Given the description of an element on the screen output the (x, y) to click on. 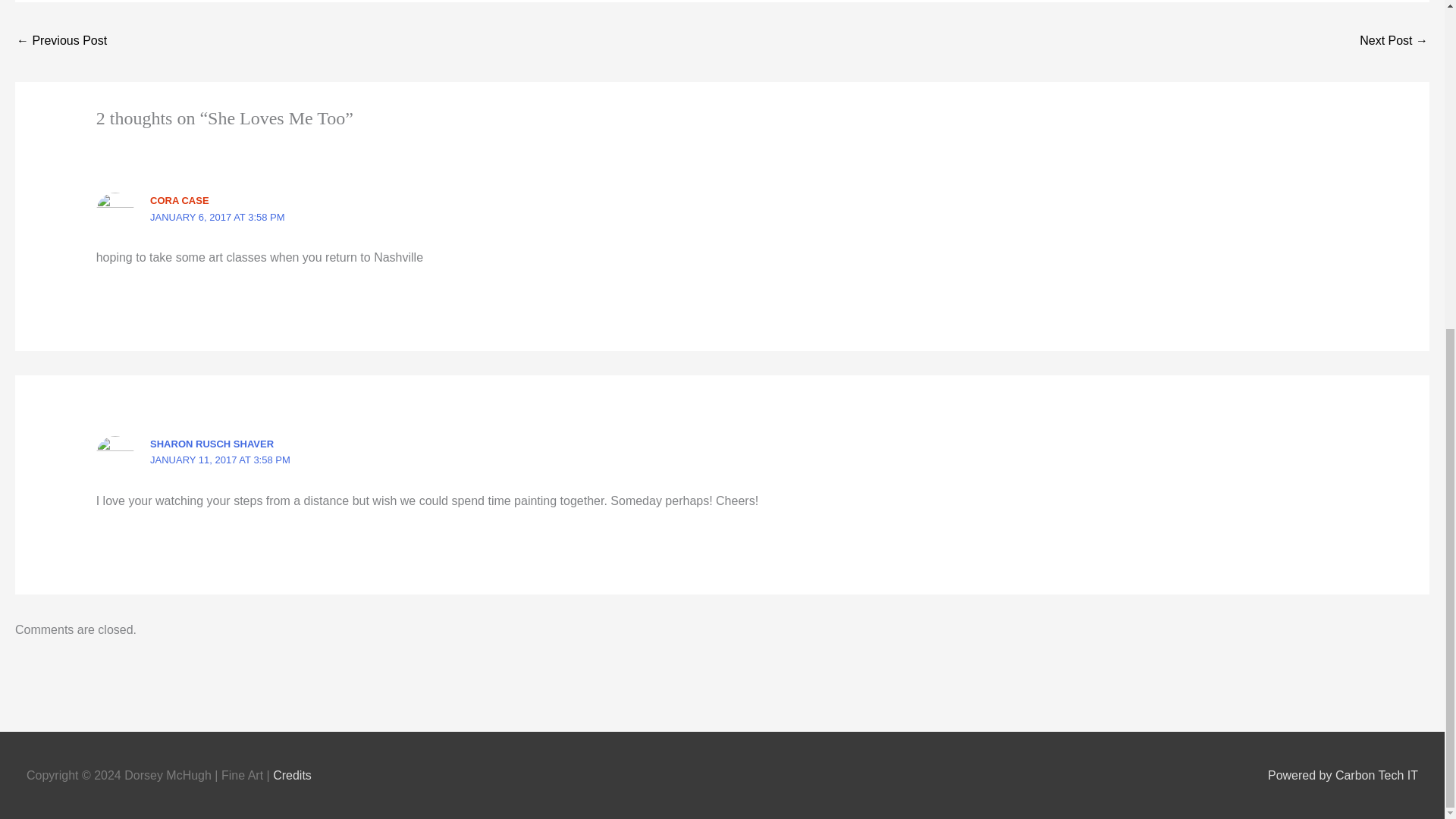
Art Exhibit - Sunday, April 23rd (1393, 41)
SHARON RUSCH SHAVER (211, 443)
What Love Looks Like... (61, 41)
JANUARY 11, 2017 AT 3:58 PM (219, 460)
Credits (292, 775)
Powered by Carbon Tech IT (1343, 775)
JANUARY 6, 2017 AT 3:58 PM (217, 216)
